Given the description of an element on the screen output the (x, y) to click on. 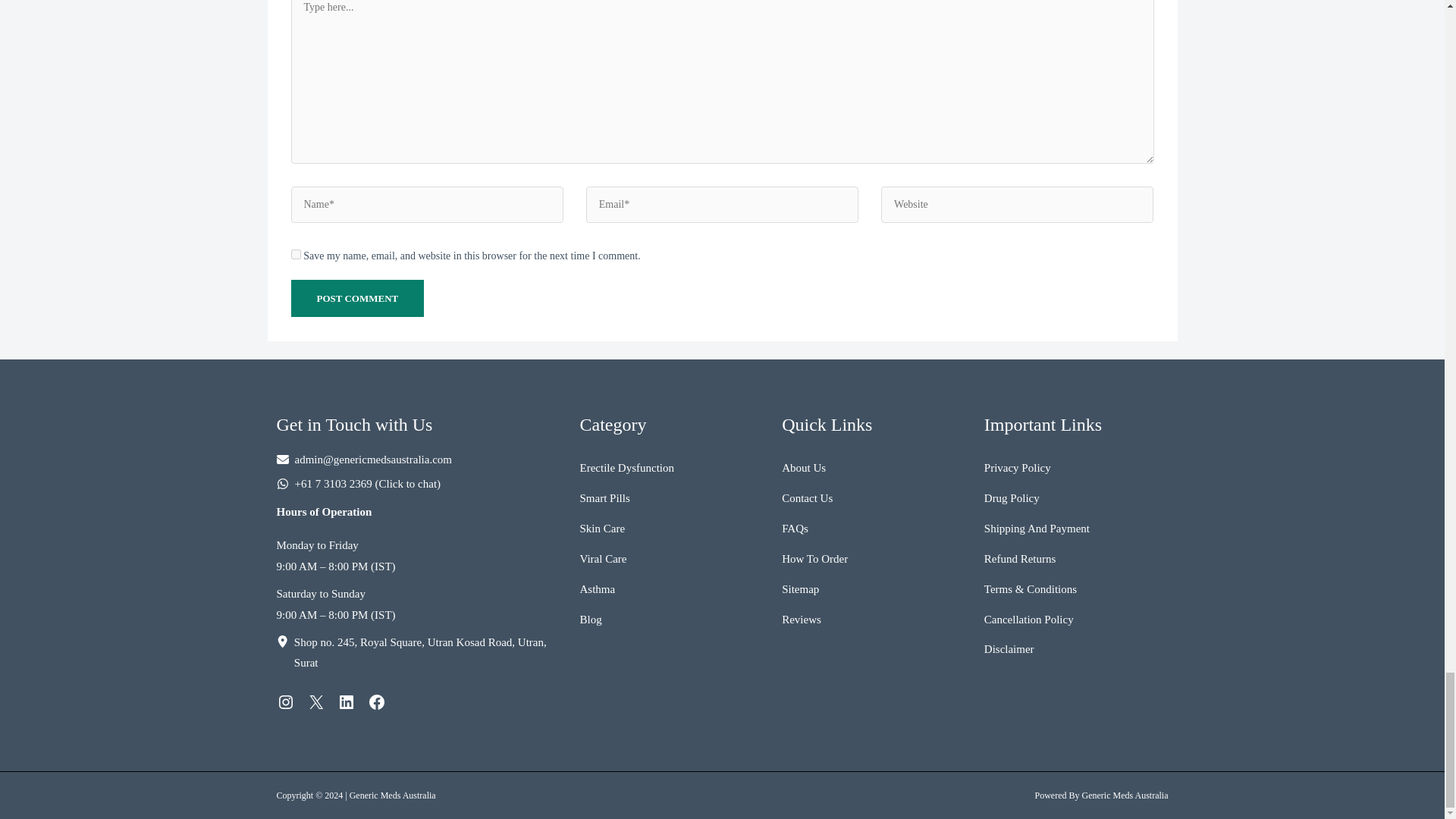
yes (296, 254)
Post Comment (358, 298)
